Given the description of an element on the screen output the (x, y) to click on. 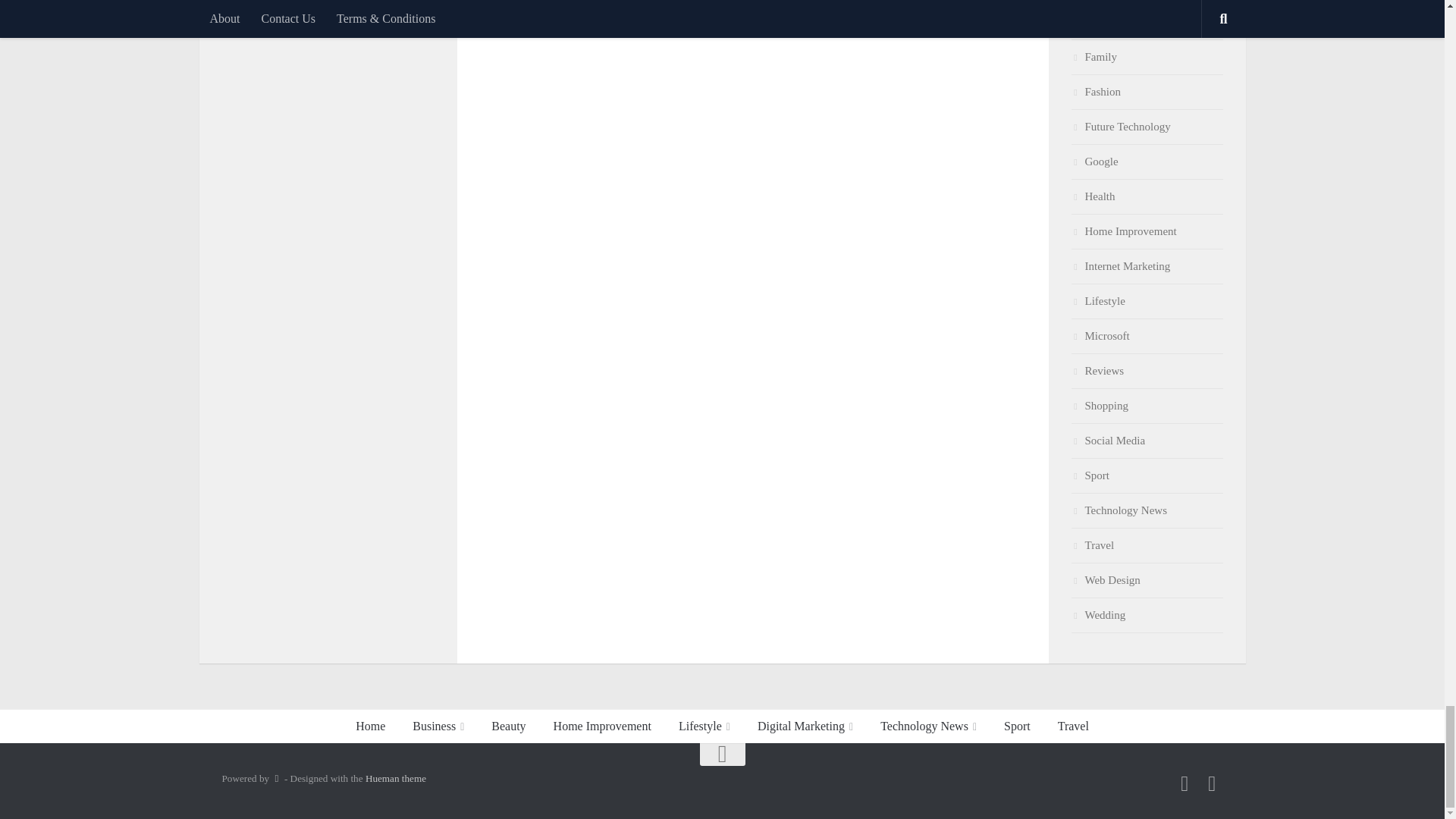
Hueman theme (395, 778)
Powered by WordPress (275, 777)
